Given the description of an element on the screen output the (x, y) to click on. 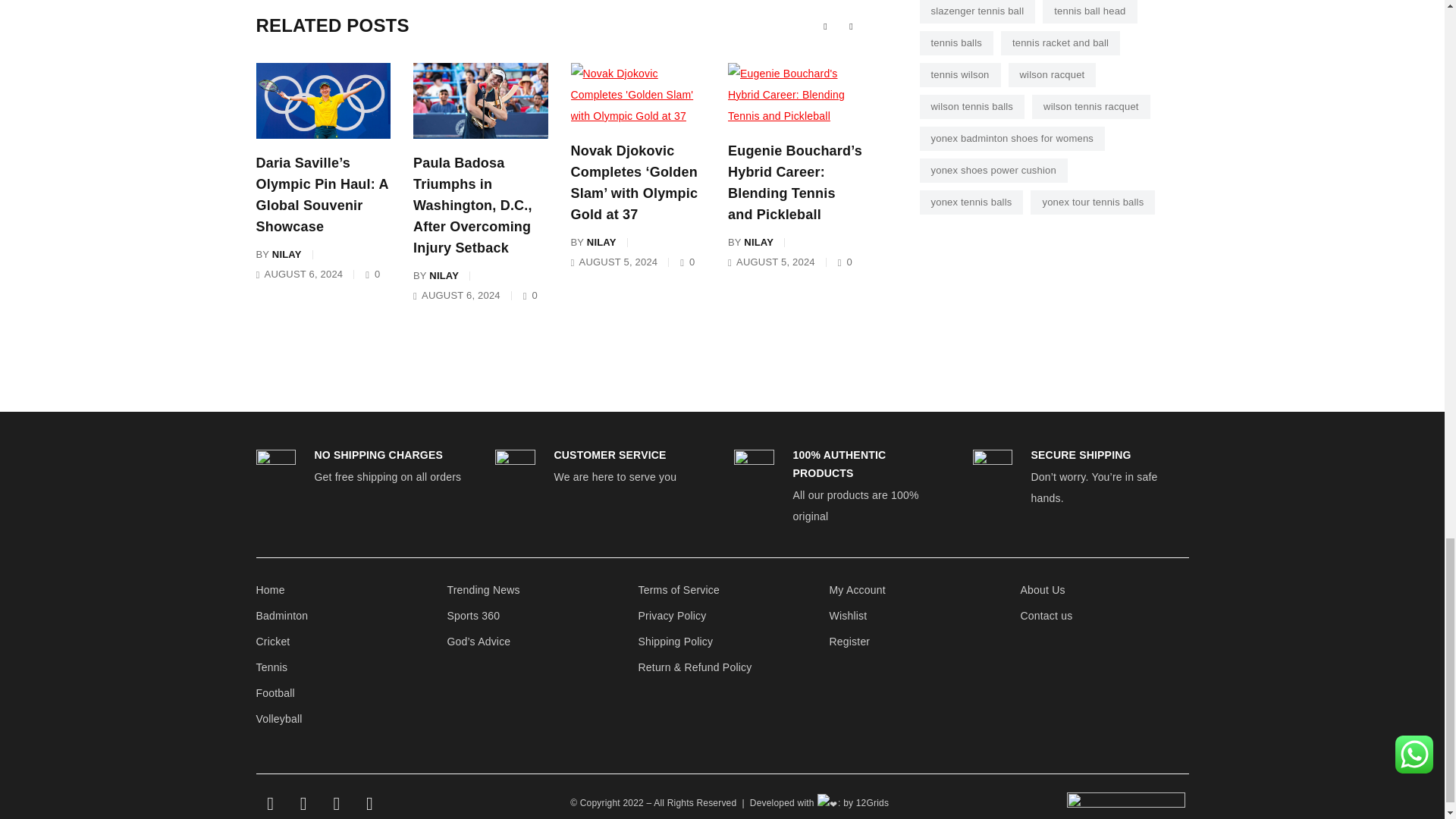
Posts by Nilay (286, 254)
Posts by Nilay (443, 275)
